Given the description of an element on the screen output the (x, y) to click on. 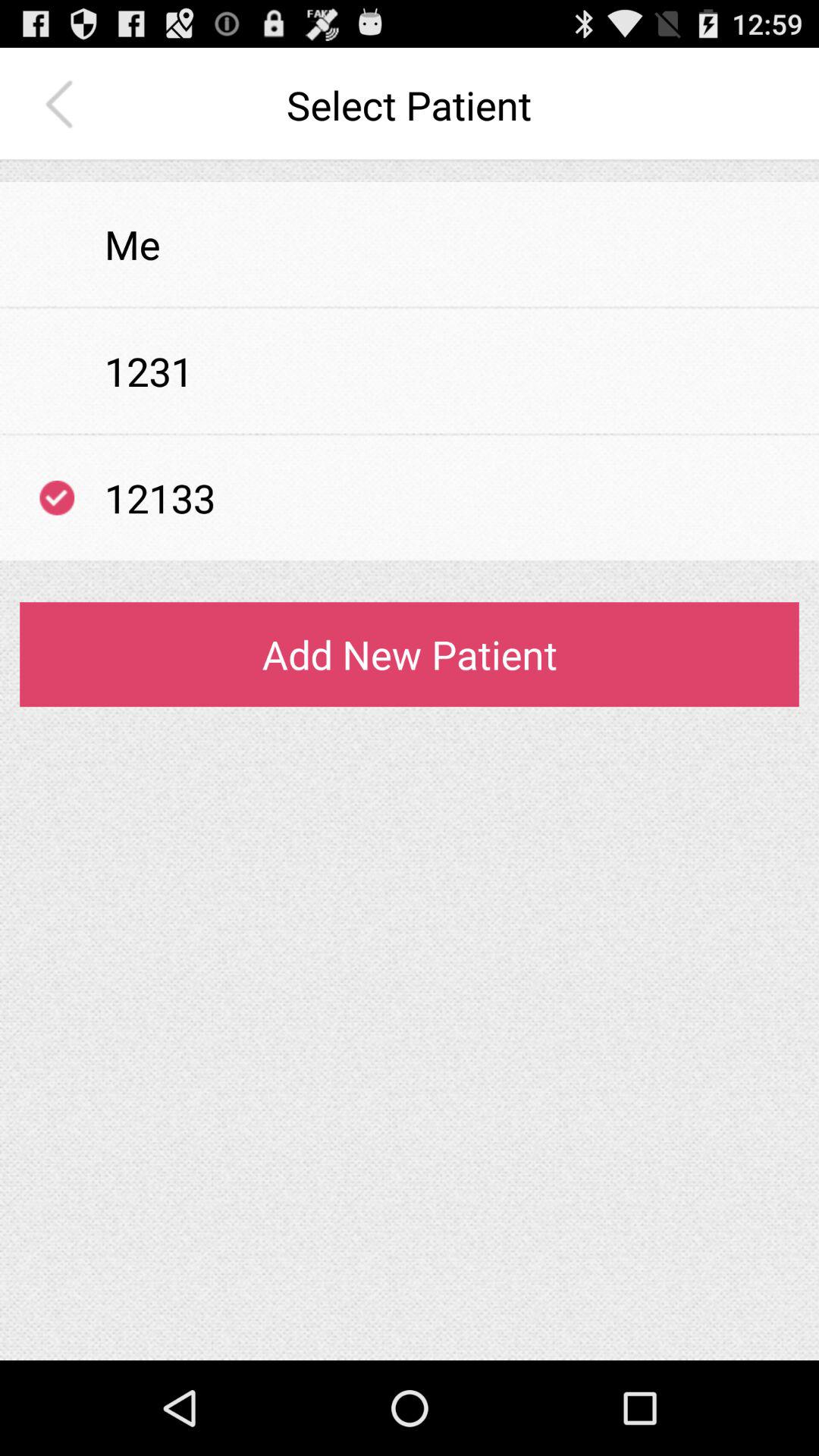
turn on app next to the 12133 icon (56, 497)
